Given the description of an element on the screen output the (x, y) to click on. 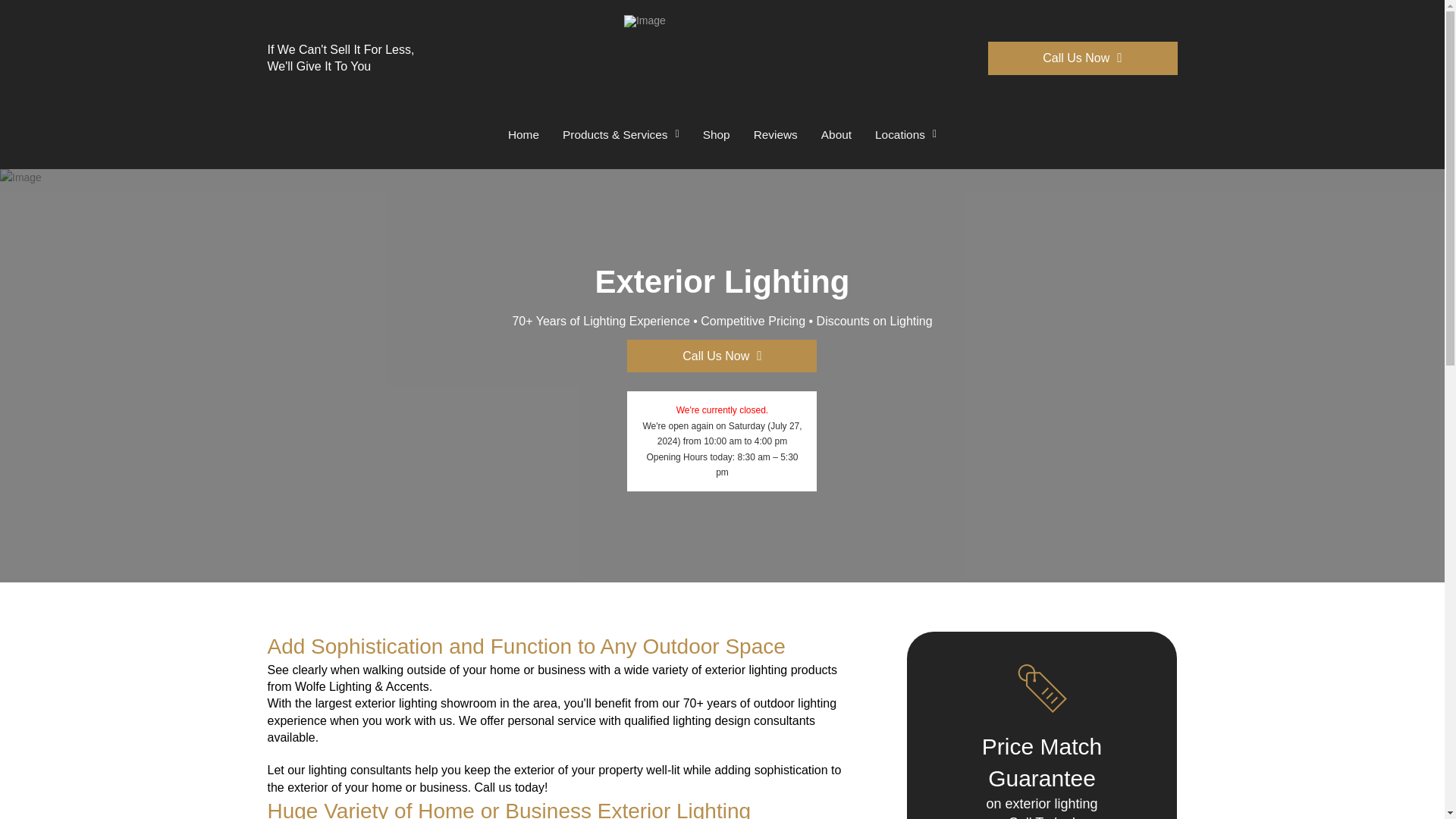
Shop (715, 135)
About (836, 135)
Locations (906, 135)
Home (523, 135)
Reviews (775, 135)
